Given the description of an element on the screen output the (x, y) to click on. 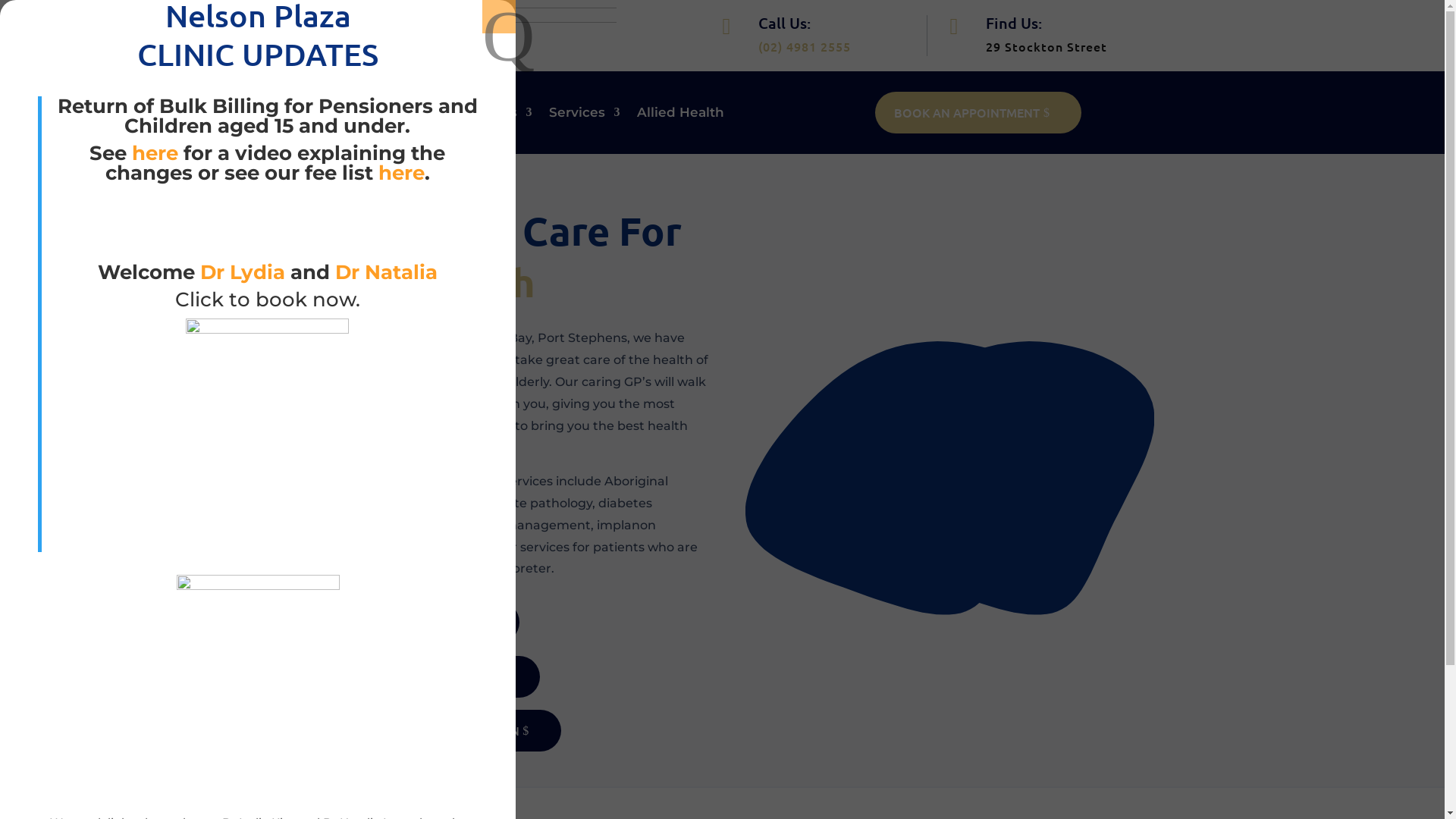
Services Element type: text (584, 114)
About Us Element type: text (409, 114)
BOOK AN APPOINTMENT Element type: text (978, 112)
Home Element type: text (333, 114)
Q Element type: text (498, 16)
here Element type: text (400, 172)
(02) 4981 2555 Element type: text (804, 45)
NelsonPlazaClinic-logo.title Element type: hover (463, 27)
NEW PATIENT REGISTRATION Element type: text (425, 675)
Dr Lydia Element type: text (242, 272)
BOOK AN APPOINTMENT Element type: text (415, 622)
Doctors Element type: text (498, 114)
REQUEST REPEAT PRESCRIPTION Element type: text (436, 730)
Allied Health Element type: text (680, 114)
Dr Natalia Element type: text (386, 272)
here Element type: text (154, 153)
